Given the description of an element on the screen output the (x, y) to click on. 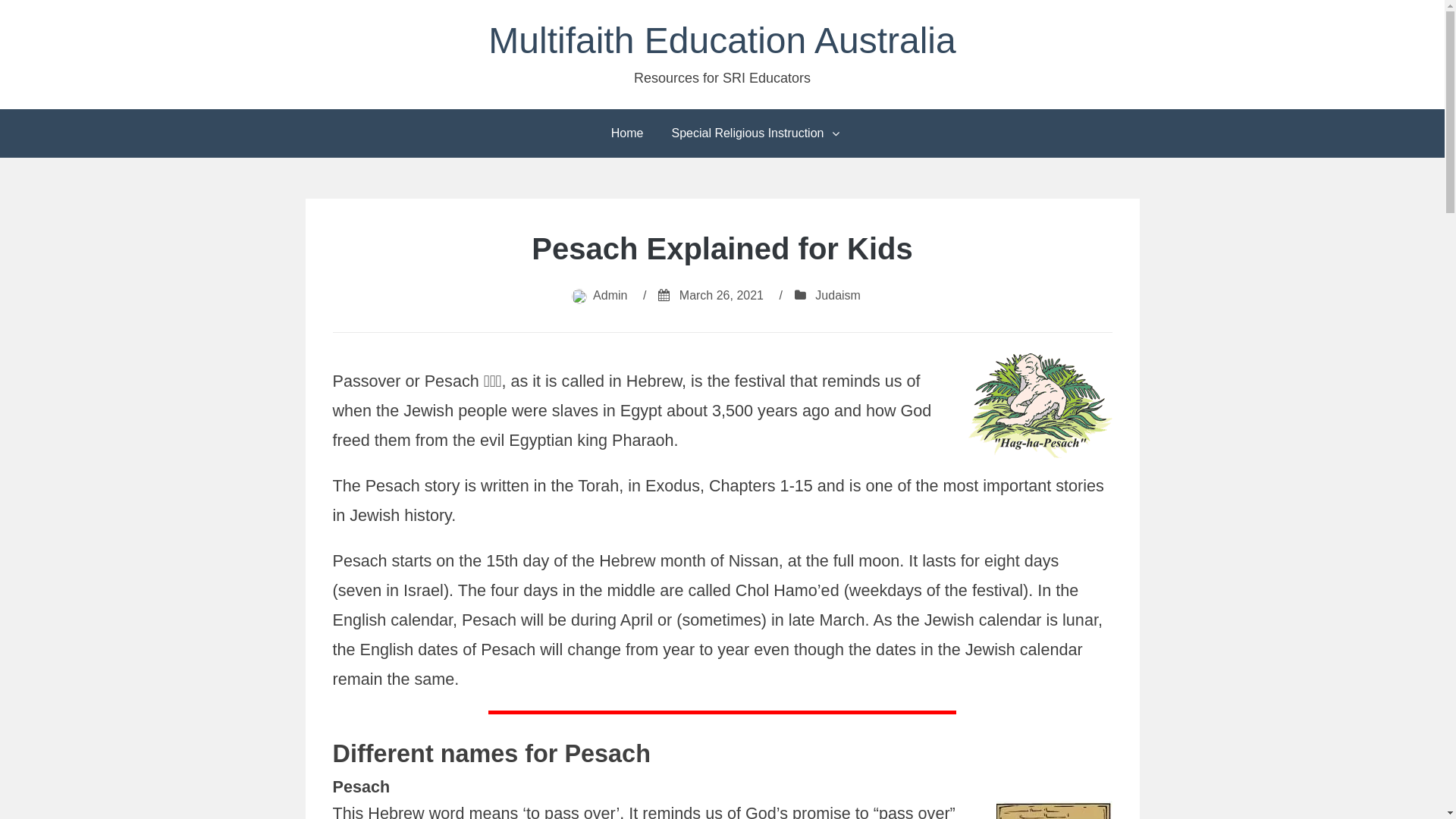
Admin Element type: text (610, 294)
Home Element type: text (627, 133)
March 26, 2021 Element type: text (721, 294)
Multifaith Education Australia Element type: text (721, 40)
Judaism Element type: text (837, 294)
Special Religious Instruction Element type: text (751, 133)
